Given the description of an element on the screen output the (x, y) to click on. 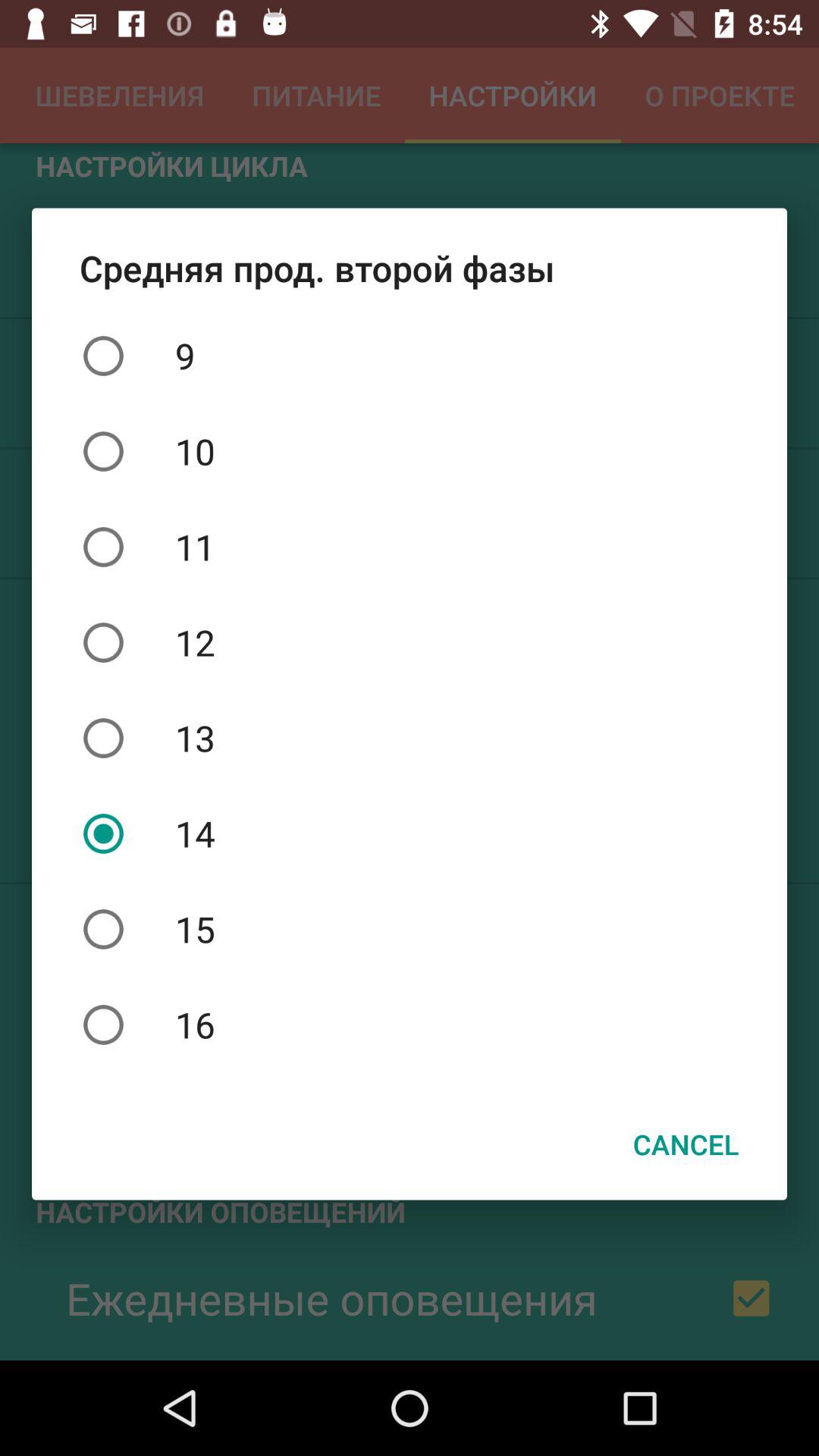
launch the item below the 15 item (409, 1024)
